Given the description of an element on the screen output the (x, y) to click on. 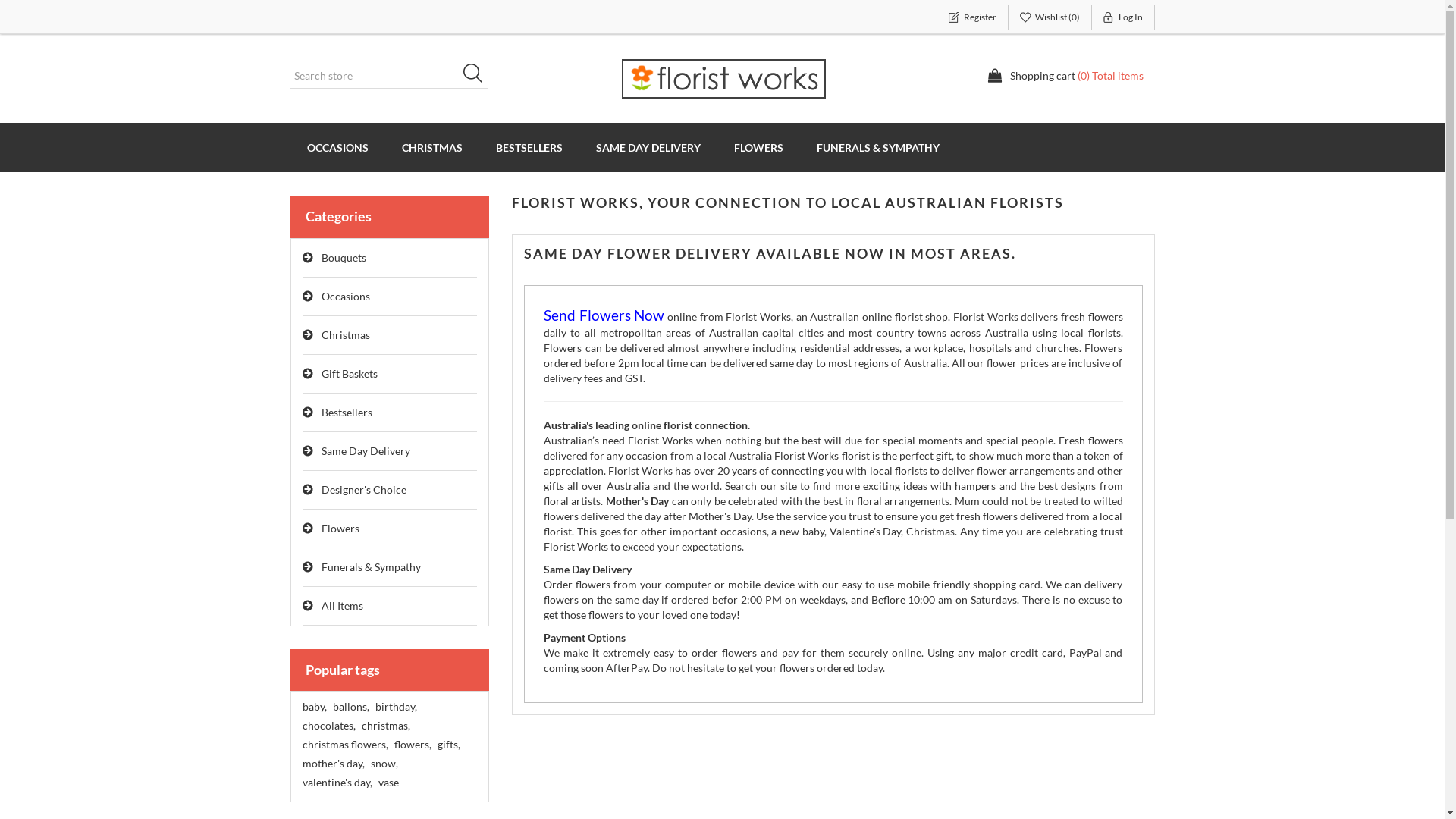
SAME DAY DELIVERY Element type: text (648, 147)
Occasions Element type: text (388, 296)
birthday, Element type: text (395, 706)
Shopping cart (0) Total items Element type: text (1065, 75)
Flowers Element type: text (388, 528)
valentine's day, Element type: text (336, 782)
mother's day, Element type: text (332, 763)
Wishlist (0) Element type: text (1050, 17)
snow, Element type: text (383, 763)
Log In Element type: text (1123, 17)
BESTSELLERS Element type: text (529, 147)
Same Day Delivery Element type: text (388, 451)
Funerals & Sympathy Element type: text (388, 567)
christmas flowers, Element type: text (344, 744)
baby, Element type: text (313, 706)
FLOWERS Element type: text (758, 147)
FUNERALS & SYMPATHY Element type: text (877, 147)
Gift Baskets Element type: text (388, 373)
OCCASIONS Element type: text (336, 147)
All Items Element type: text (388, 605)
Register Element type: text (971, 17)
CHRISTMAS Element type: text (432, 147)
Christmas Element type: text (388, 335)
christmas, Element type: text (384, 725)
flowers, Element type: text (412, 744)
Send Flowers Now Element type: text (603, 316)
Bouquets Element type: text (388, 257)
Bestsellers Element type: text (388, 412)
vase Element type: text (387, 782)
ballons, Element type: text (350, 706)
gifts, Element type: text (447, 744)
chocolates, Element type: text (327, 725)
Designer's Choice Element type: text (388, 489)
